Given the description of an element on the screen output the (x, y) to click on. 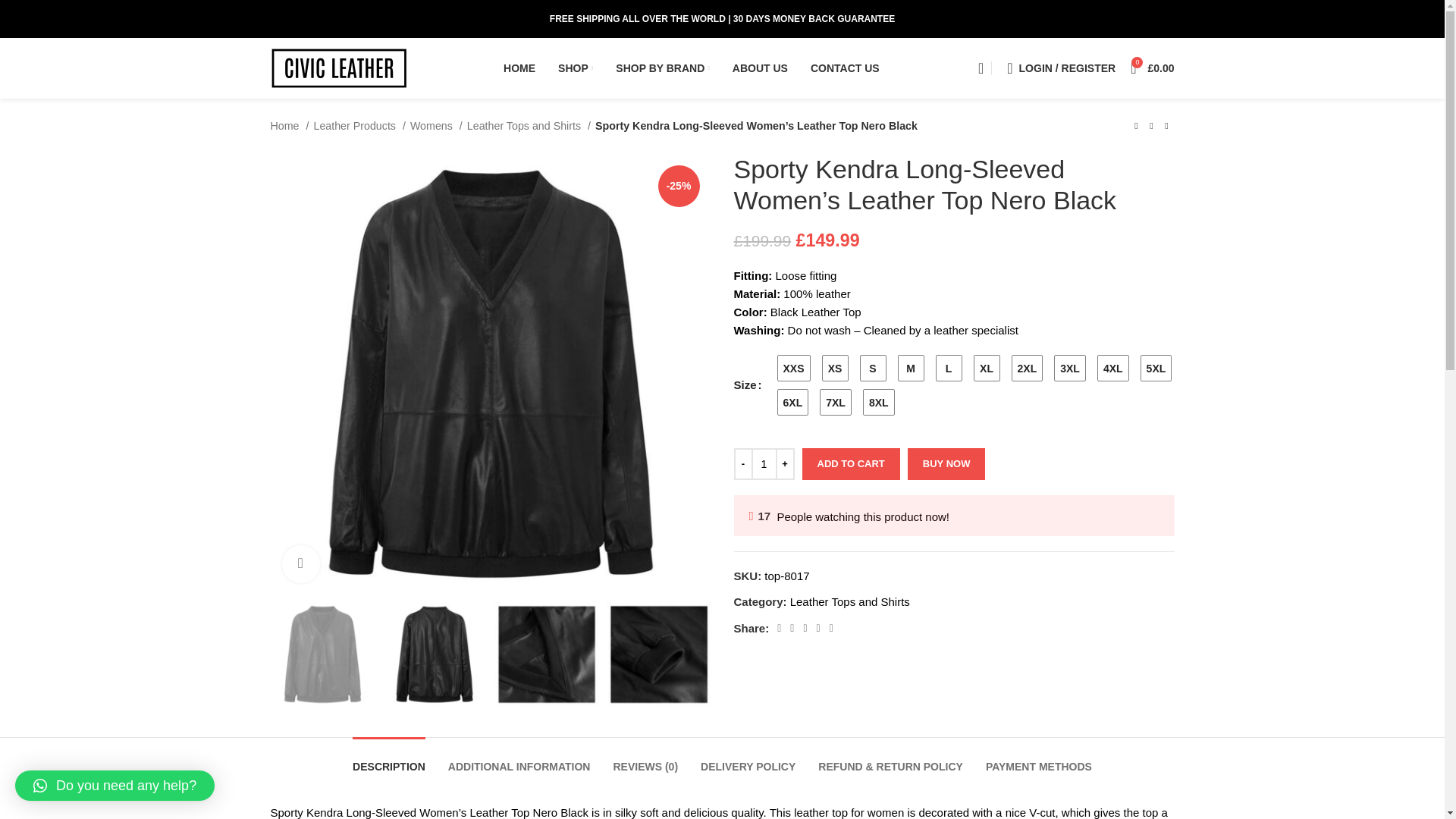
- (742, 463)
SHOP (574, 68)
Shopping cart (1151, 68)
My account (1060, 68)
1 (763, 463)
HOME (519, 68)
Search (976, 68)
Sporty-Kendra-long-sleeved-leather-top-Nero-Black-3 (1311, 373)
